Given the description of an element on the screen output the (x, y) to click on. 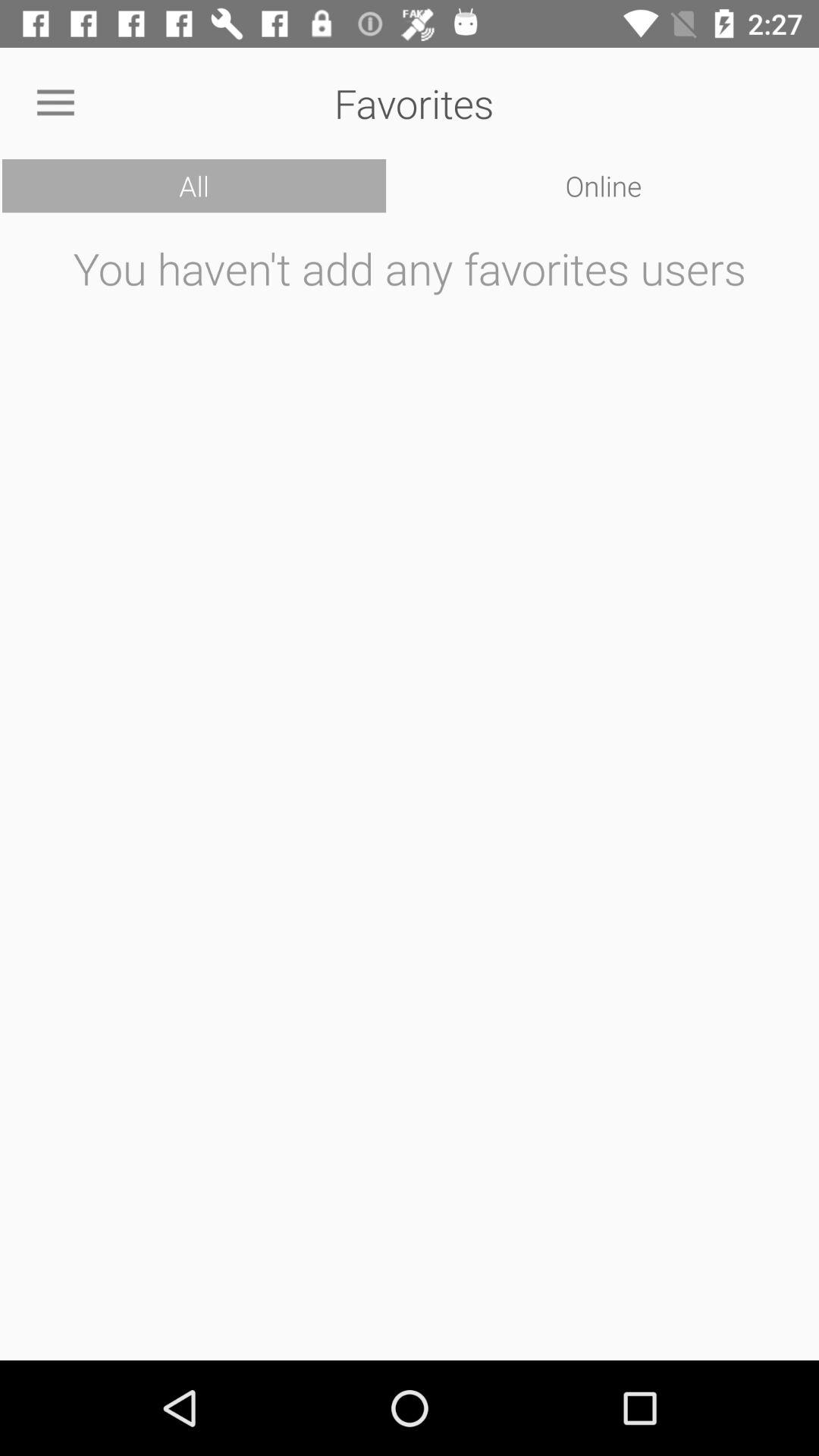
jump until the online item (603, 185)
